Given the description of an element on the screen output the (x, y) to click on. 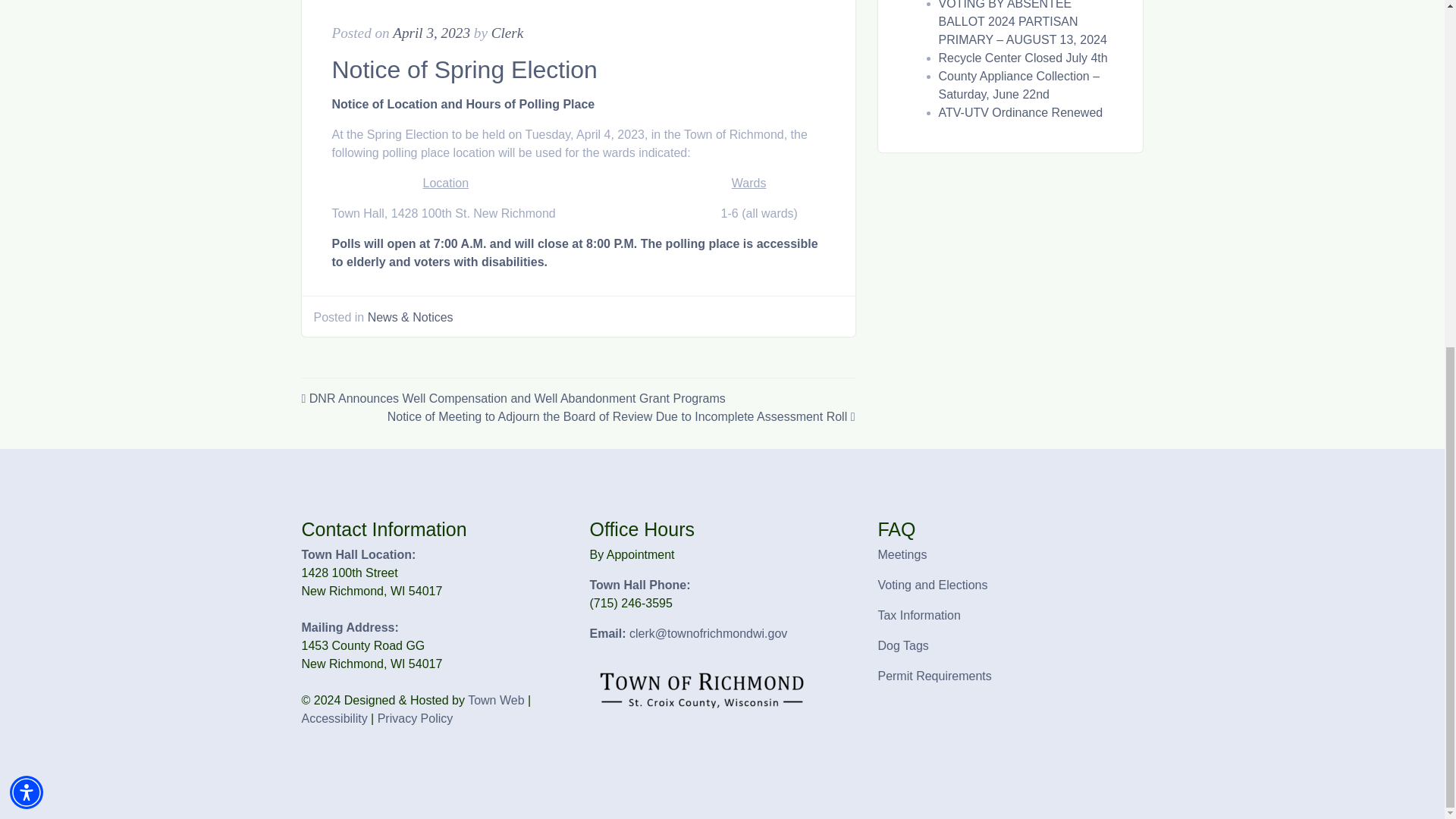
April 3, 2023 (431, 32)
Accessibility Menu (26, 195)
Recycle Center Closed July 4th (1023, 57)
Clerk (508, 32)
